Given the description of an element on the screen output the (x, y) to click on. 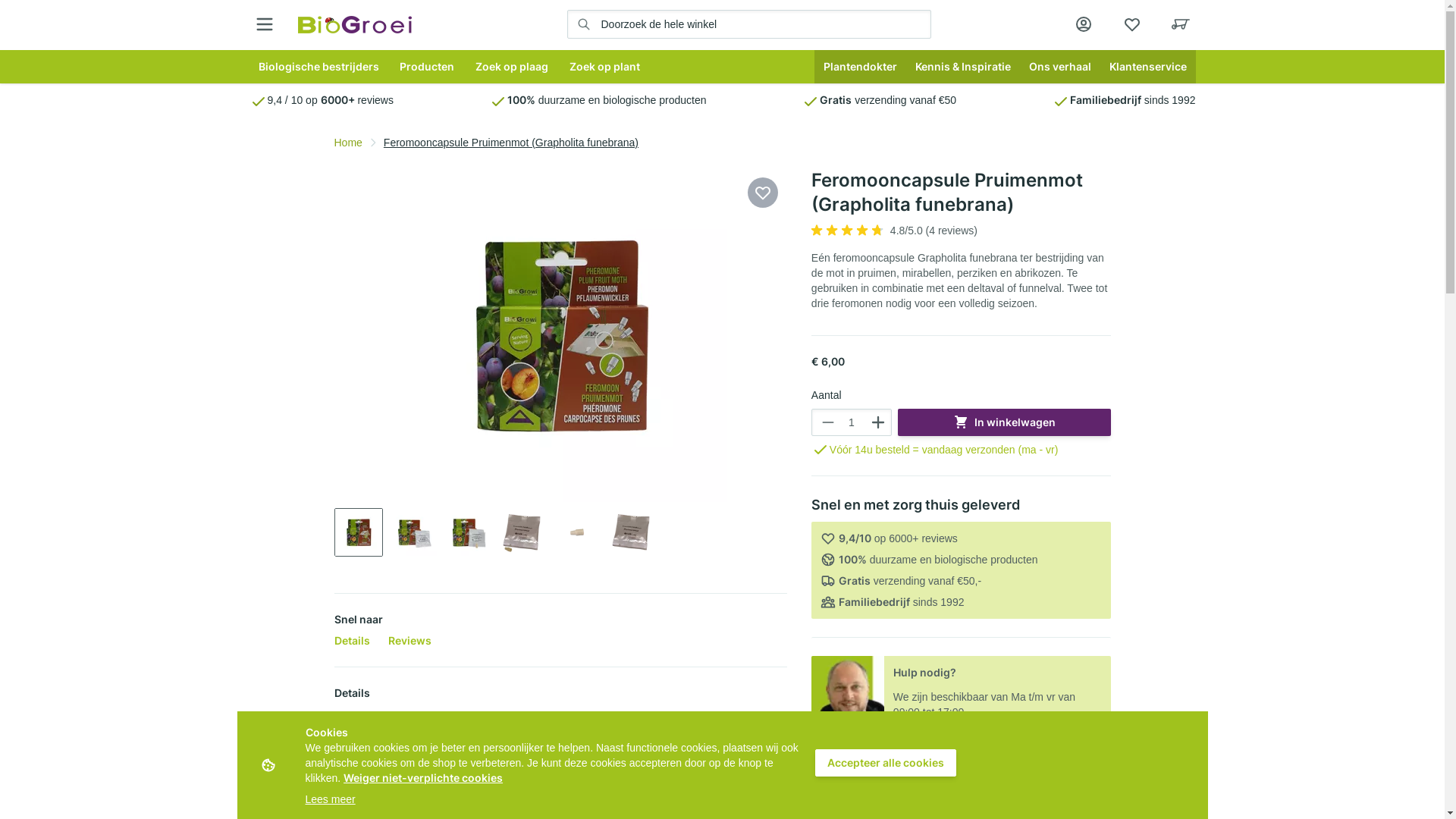
Feromooncapsule Pruimenmot (Grapholita funebrana) Element type: hover (412, 531)
Producten Element type: text (426, 66)
Biologische bestrijders Element type: text (317, 66)
In winkelwagen Element type: text (1003, 422)
100% duurzame en biologische producten Element type: text (597, 99)
Feromoon pruimenmot Element type: hover (559, 335)
Reviews Element type: text (409, 639)
Feromoon pruimenmot Element type: hover (576, 531)
Feromooncapsule Pruimenmot (Grapholita funebrana) Element type: hover (631, 531)
Ons verhaal Element type: text (1059, 66)
Home Element type: text (347, 142)
Zoek op plant Element type: text (604, 66)
Feromoon pruimenmot Element type: hover (358, 531)
9,4 / 10 op 6000+ reviews Element type: text (320, 99)
Lees meer Element type: text (329, 799)
Zoek op plaag Element type: text (511, 66)
Feromooncapsule Pruimenmot (Grapholita funebrana) Element type: hover (522, 531)
Plantendokter Element type: text (860, 66)
Cart Element type: text (1179, 24)
Feromooncapsule Pruimenmot (Grapholita funebrana) Element type: hover (467, 531)
Details Element type: text (351, 639)
Biogroei.be Element type: hover (354, 23)
Klantenservice Element type: text (1147, 66)
Kennis & Inspiratie Element type: text (962, 66)
Voeg toe aan verlanglijst Element type: hover (762, 192)
Neem contact met ons op Element type: text (997, 740)
Familiebedrijf sinds 1992 Element type: text (1123, 99)
